Given the description of an element on the screen output the (x, y) to click on. 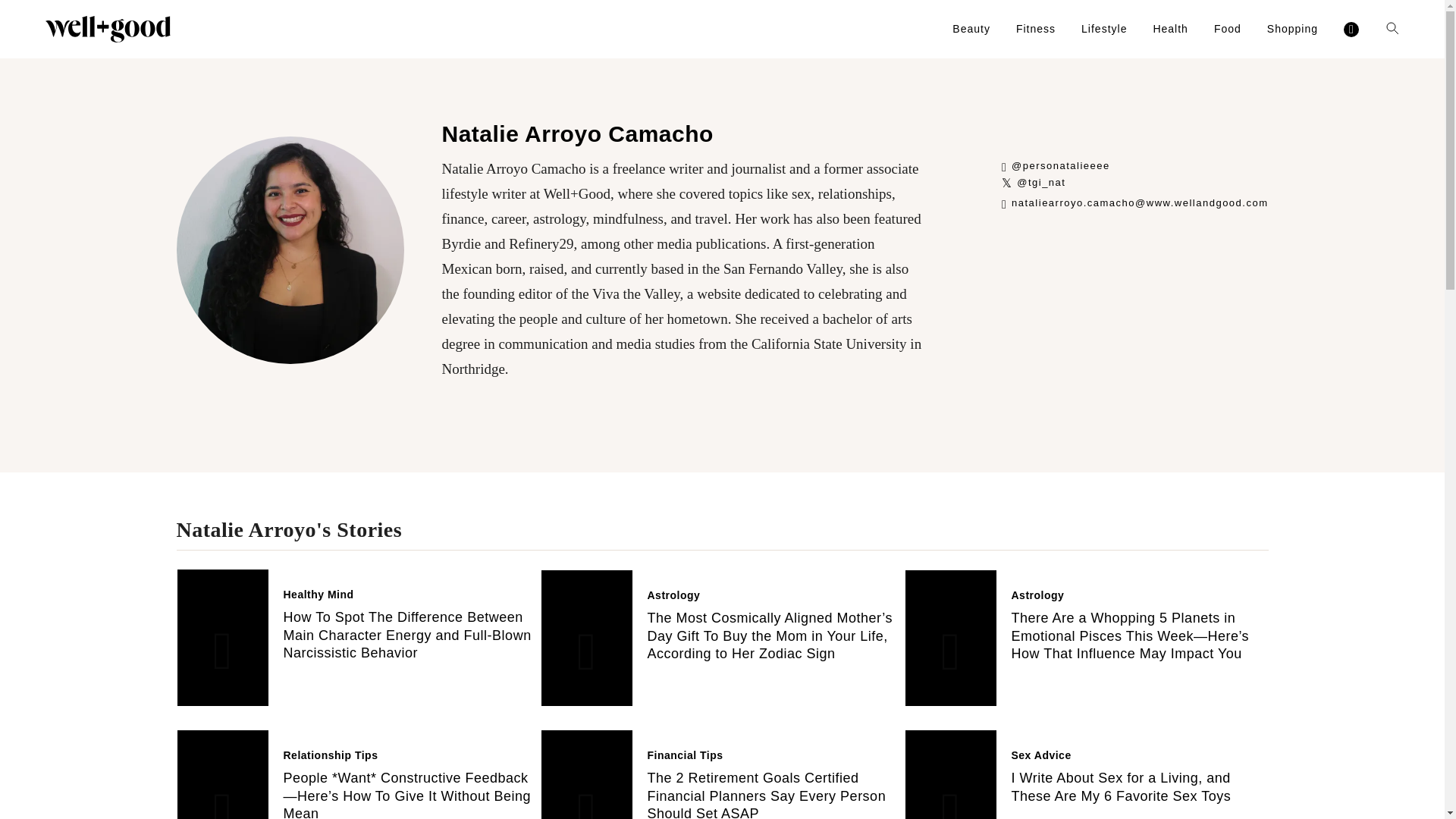
Lifestyle (1103, 29)
Health (1170, 29)
Fitness (1035, 29)
Beauty (971, 29)
Food (1227, 29)
Shopping (1291, 29)
